Given the description of an element on the screen output the (x, y) to click on. 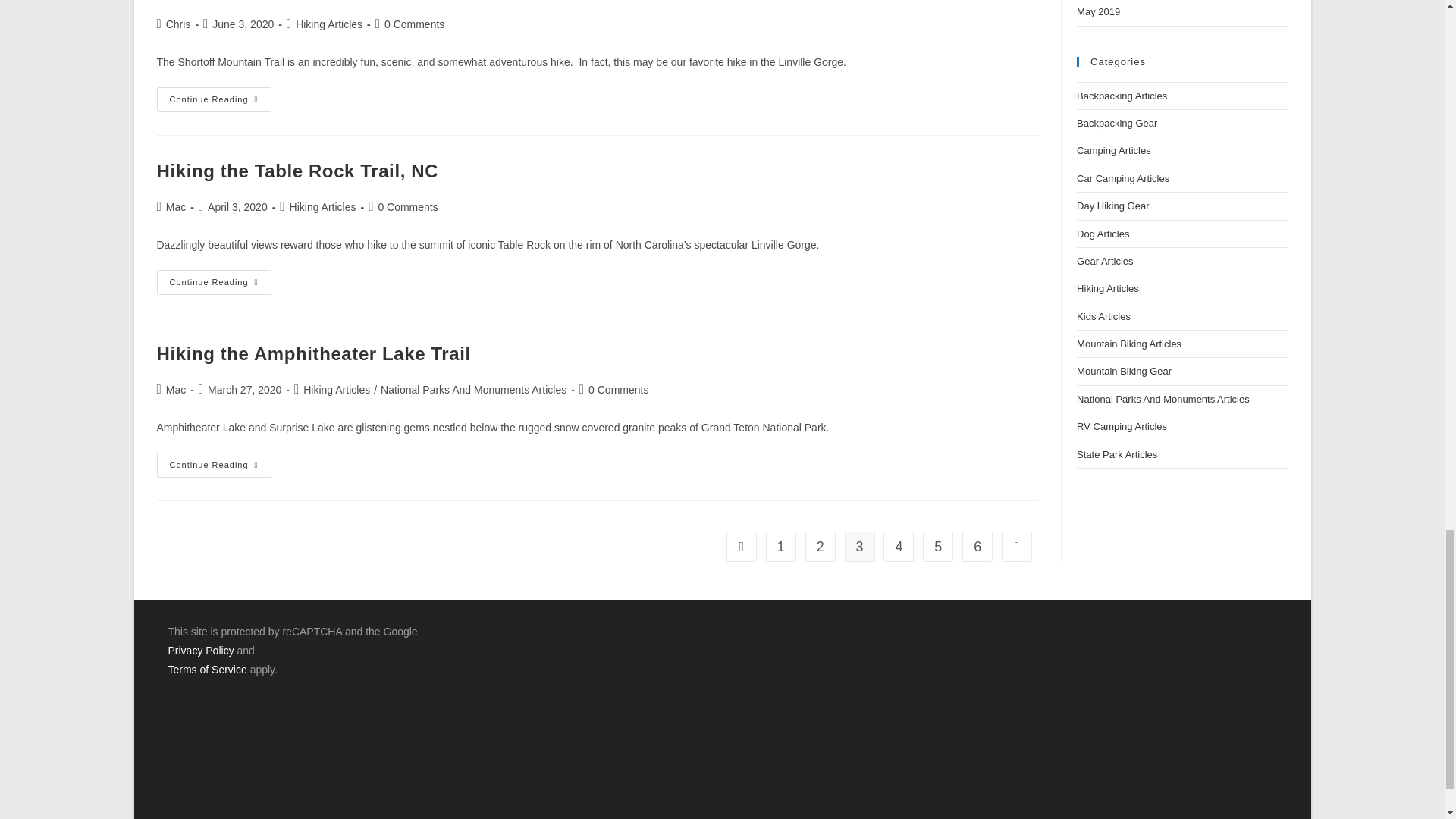
Posts by Mac (175, 389)
Posts by Chris (177, 24)
Posts by Mac (175, 206)
